Given the description of an element on the screen output the (x, y) to click on. 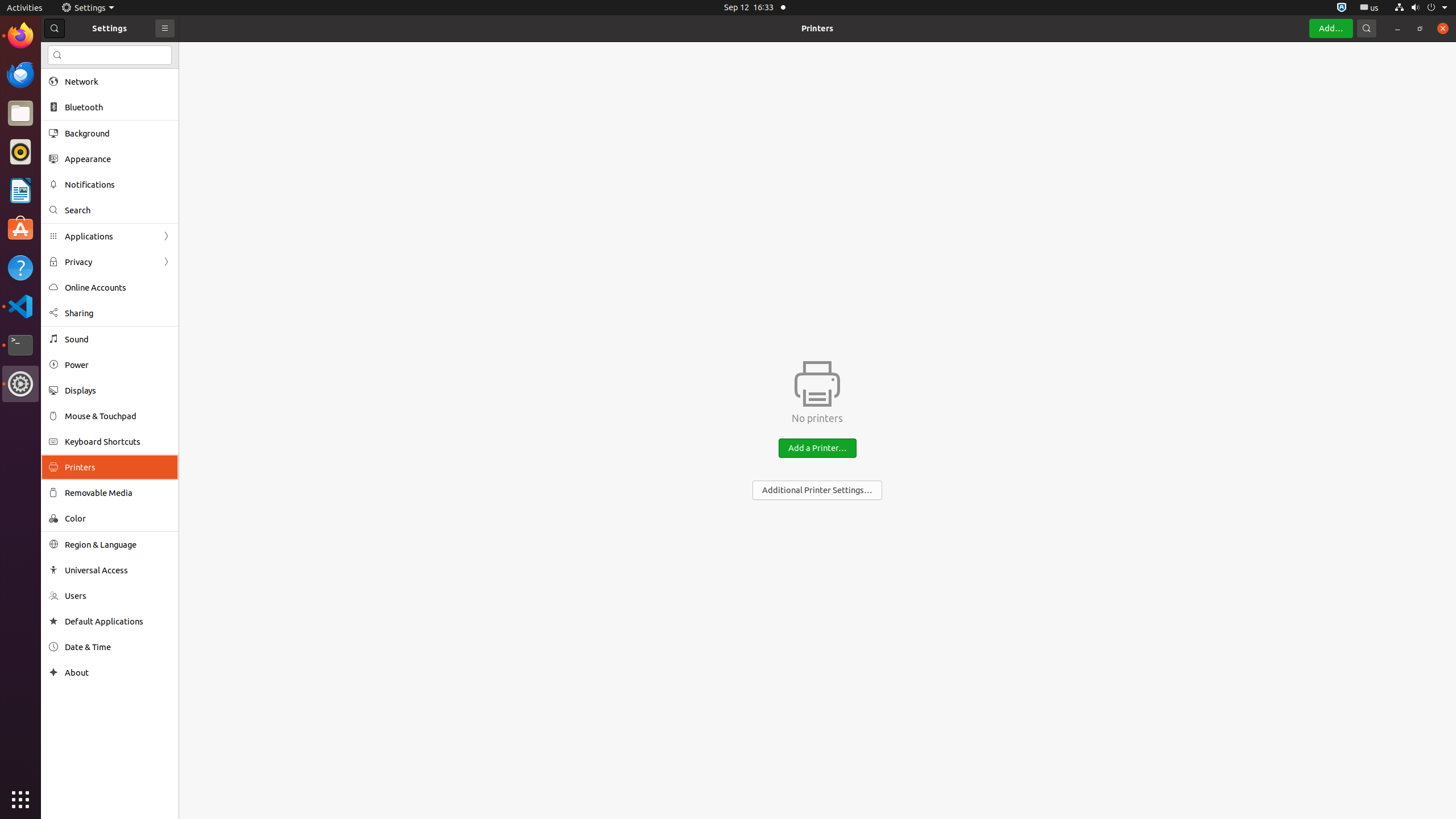
Additional Printer Settings… Element type: push-button (817, 489)
